Given the description of an element on the screen output the (x, y) to click on. 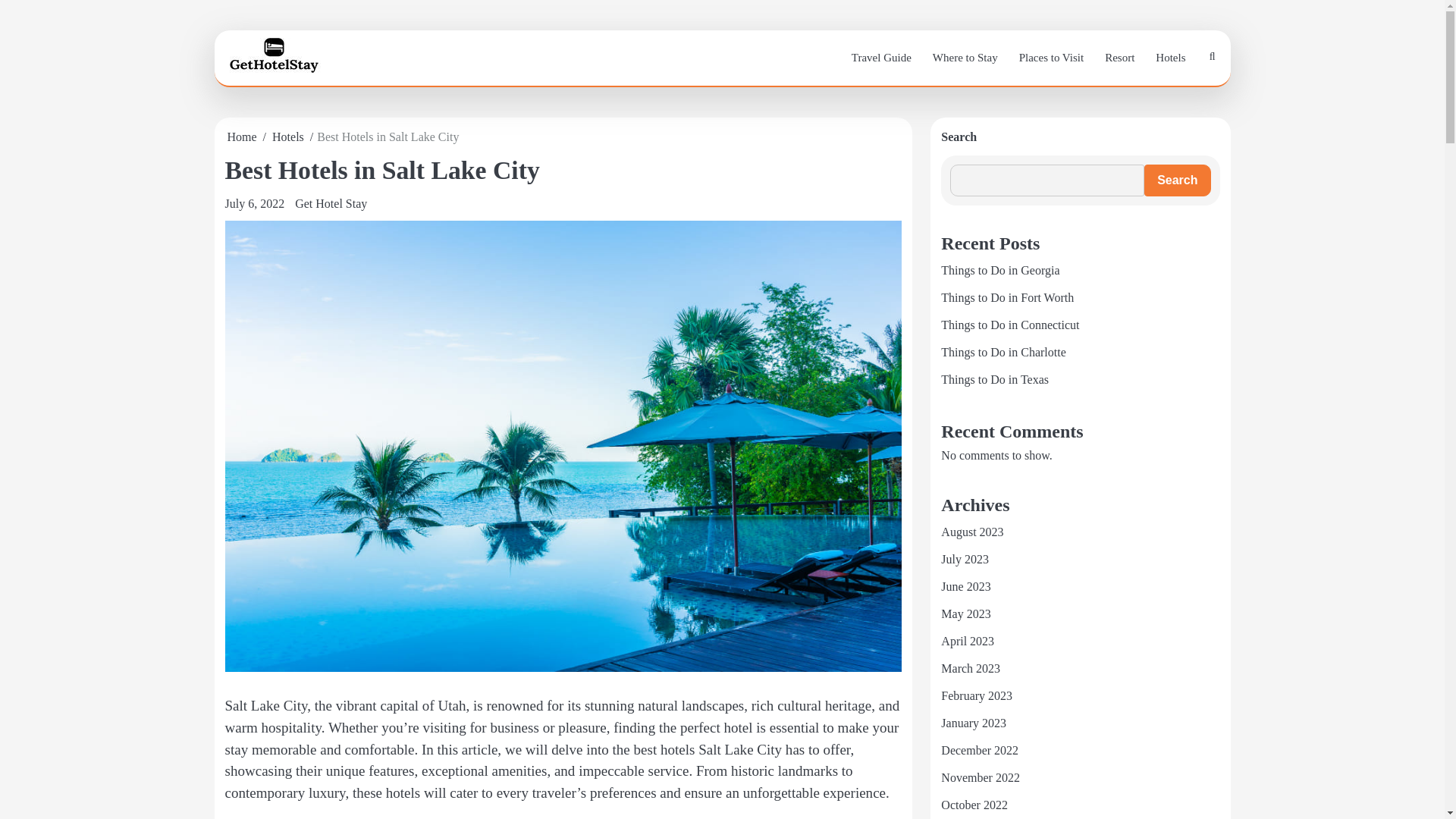
Things to Do in Charlotte (1002, 351)
Places to Visit (1051, 58)
Hotels (1169, 58)
November 2022 (980, 777)
Where to Stay (965, 58)
Things to Do in Georgia (999, 269)
Home (242, 136)
January 2023 (973, 722)
March 2023 (970, 667)
Things to Do in Connecticut (1009, 324)
